Given the description of an element on the screen output the (x, y) to click on. 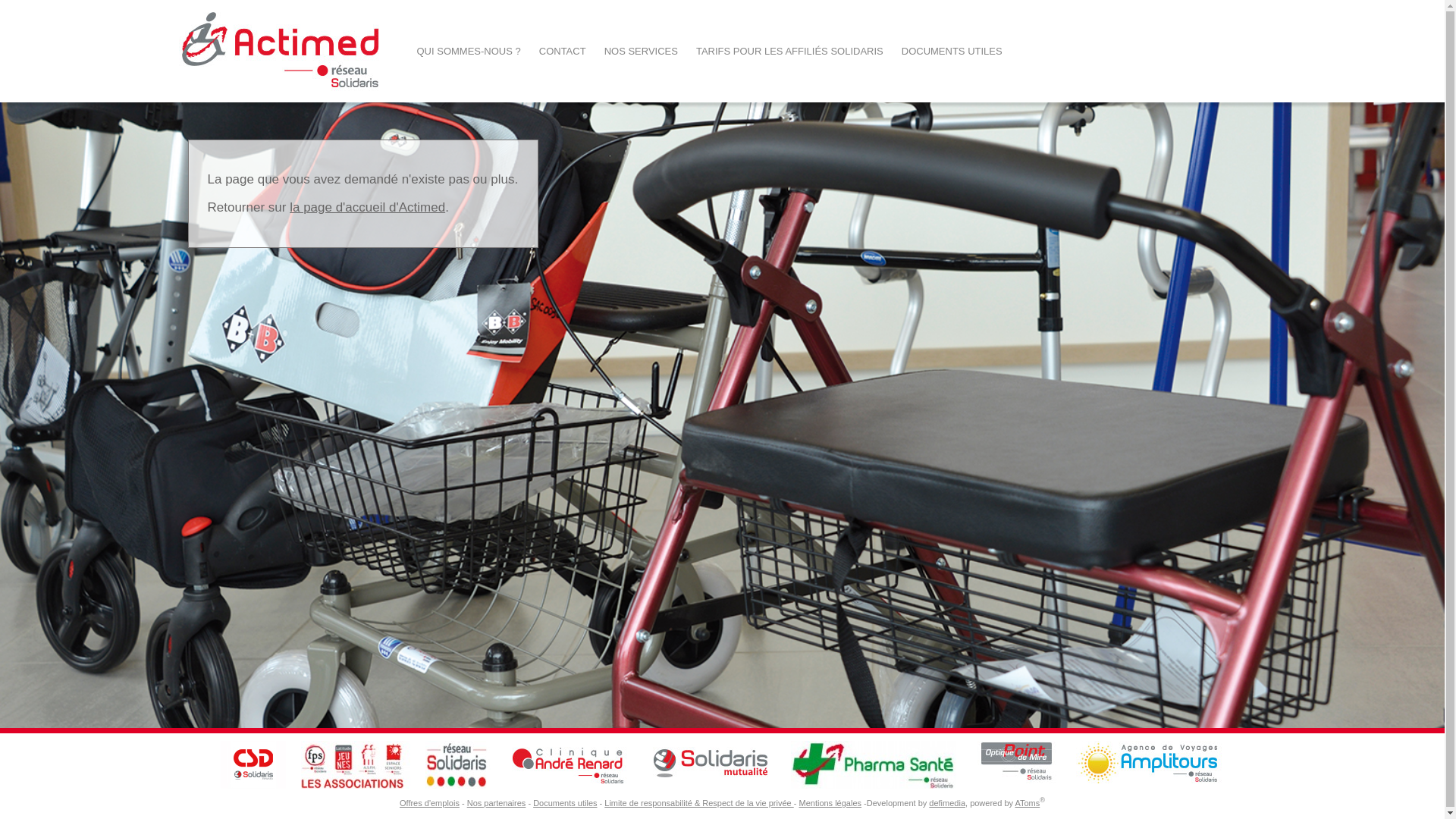
logo-csd Element type: hover (252, 764)
AToms Element type: text (1026, 802)
DOCUMENTS UTILES Element type: text (951, 51)
Nos partenaires Element type: text (496, 802)
logo-solidaris Element type: hover (710, 764)
Documents utiles Element type: text (564, 802)
logo-actimed site pharma Element type: hover (873, 764)
defimedia Element type: text (946, 802)
logo-optique-point-mire Element type: hover (1015, 764)
logo resau Element type: hover (457, 764)
logo-amplitour Element type: hover (1149, 764)
Offres d'emplois Element type: text (429, 802)
CONTACT Element type: text (562, 51)
NOS SERVICES Element type: text (641, 51)
la page d'accueil d'Actimed Element type: text (367, 207)
logo-clinique Element type: hover (568, 764)
logo-FPS associations Element type: hover (355, 764)
Actimed Element type: hover (280, 98)
QUI SOMMES-NOUS ? Element type: text (468, 51)
logo-actimed Element type: hover (280, 51)
